Given the description of an element on the screen output the (x, y) to click on. 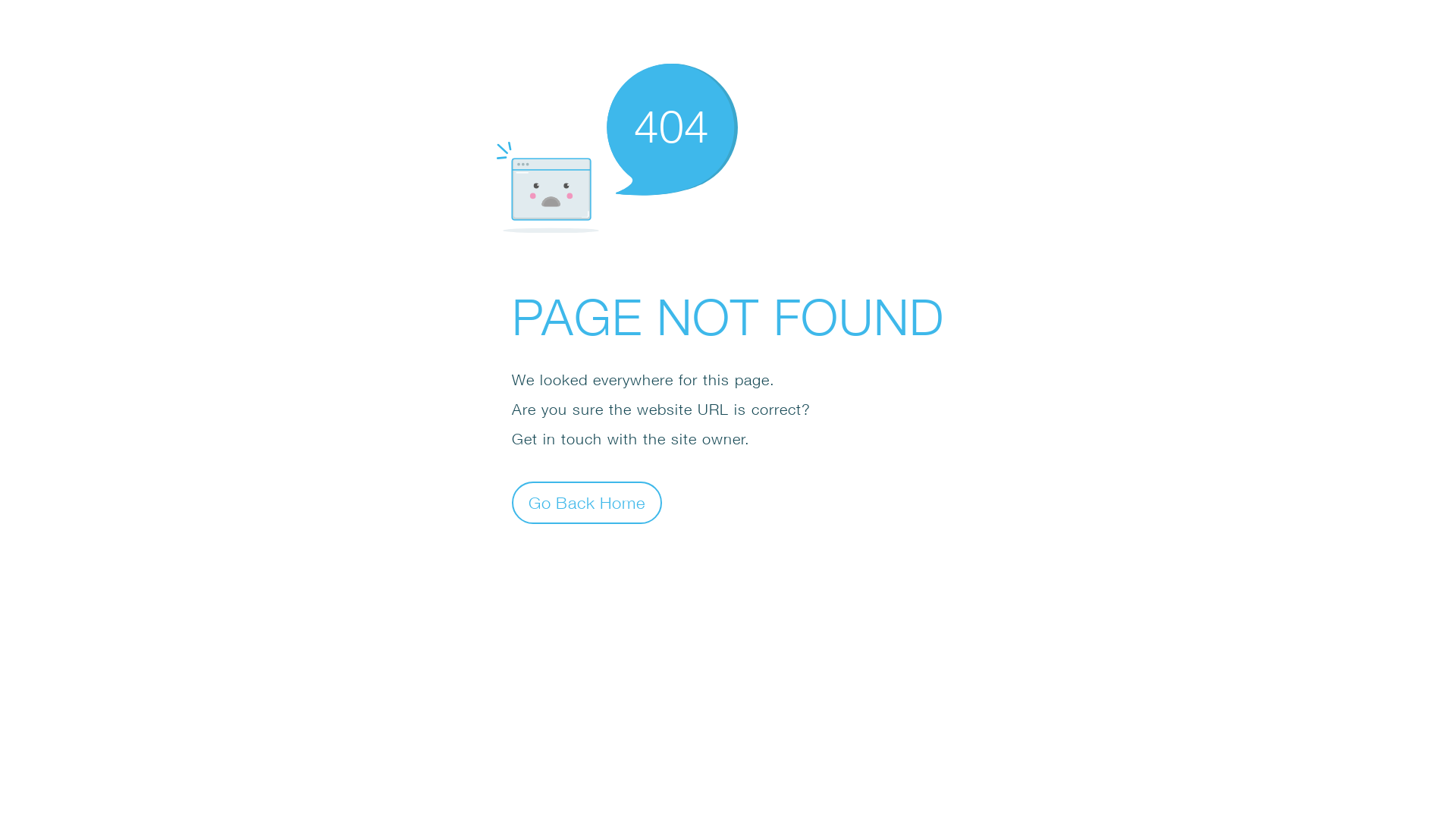
Go Back Home Element type: text (586, 502)
